Given the description of an element on the screen output the (x, y) to click on. 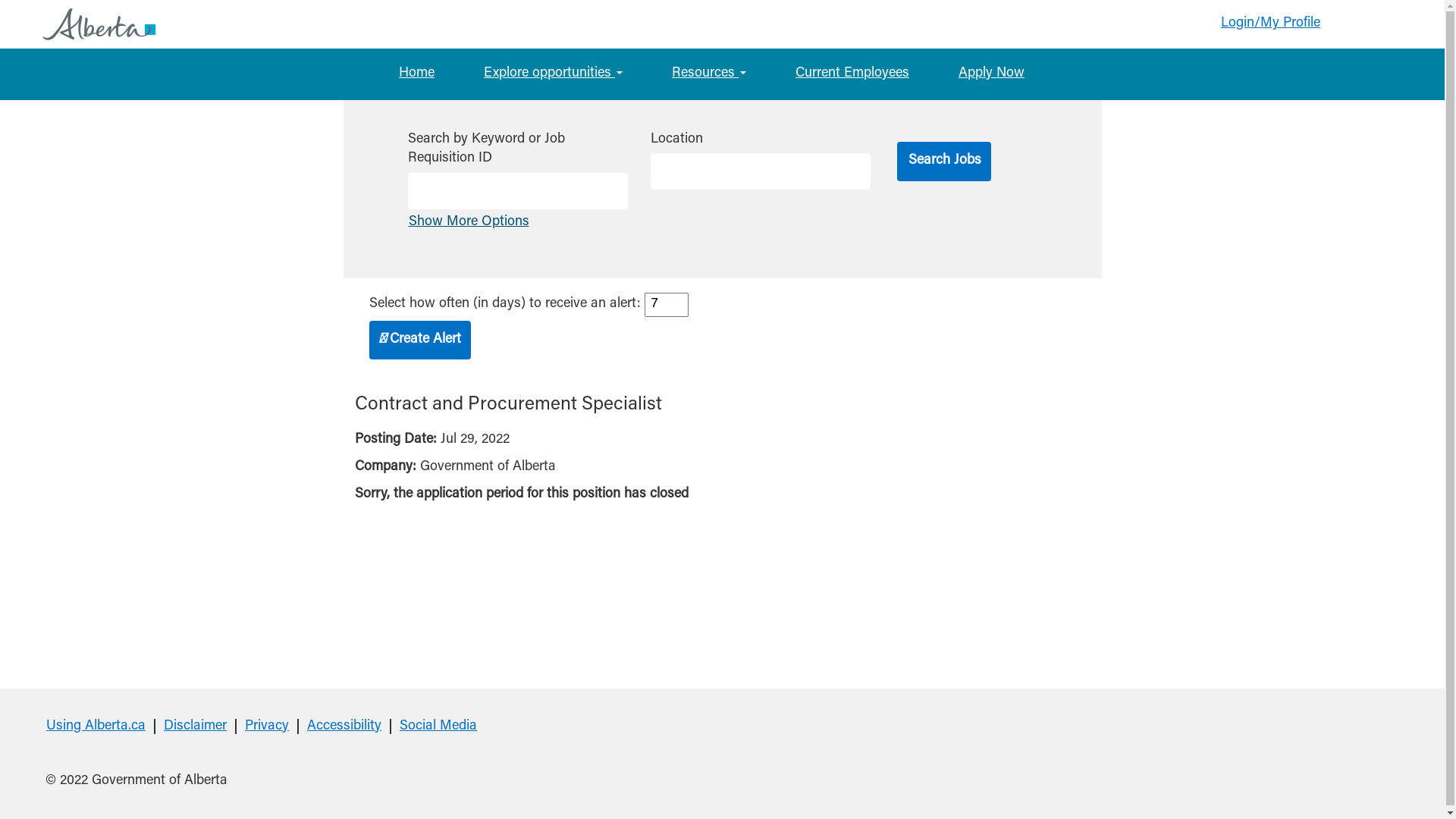
                                             Element type: hover (64, 23)
Home Element type: text (416, 74)
Current Employees Element type: text (852, 74)
Explore opportunities Element type: text (552, 74)
Privacy Element type: text (266, 726)
Show More Options Element type: text (468, 221)
Accessibility Element type: text (344, 726)
Search Jobs Element type: text (943, 161)
Apply Now Element type: text (991, 74)
Login/My Profile Element type: text (1270, 23)
Create Alert Element type: text (419, 340)
Disclaimer Element type: text (195, 726)
Social Media Element type: text (437, 726)
Using Alberta.ca Element type: text (95, 726)
Resources Element type: text (708, 74)
